Given the description of an element on the screen output the (x, y) to click on. 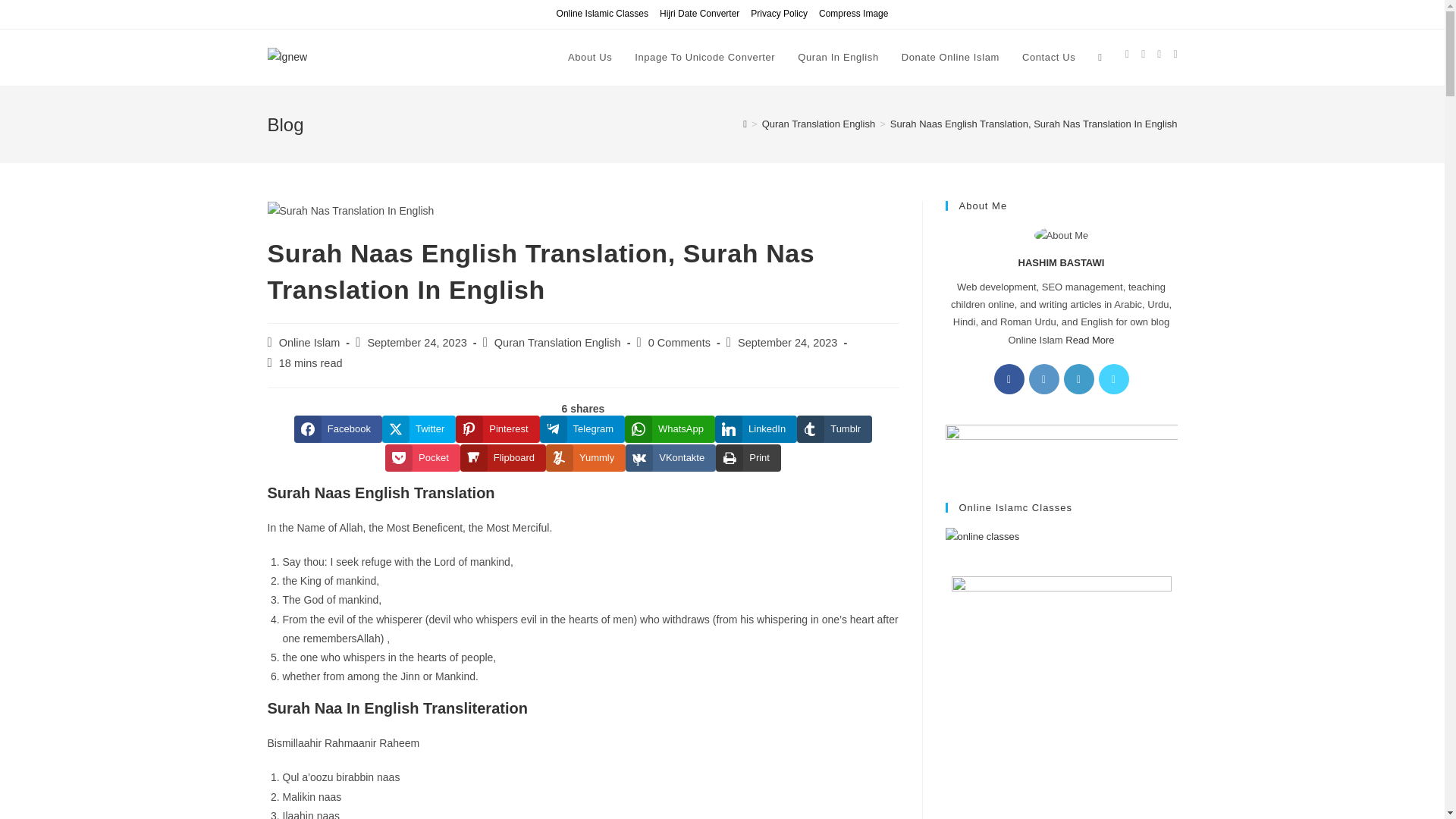
Twitter (418, 429)
Posts by Online Islam (309, 342)
Pinterest (496, 429)
Yummly (586, 457)
WhatsApp (669, 429)
Flipboard (503, 457)
VKontakte (671, 457)
Online Islam (309, 342)
Pocket (422, 457)
0 Comments (678, 342)
Privacy Policy (779, 13)
Inpage To Unicode Converter (704, 57)
LinkedIn (755, 429)
Quran Translation English (818, 123)
